Given the description of an element on the screen output the (x, y) to click on. 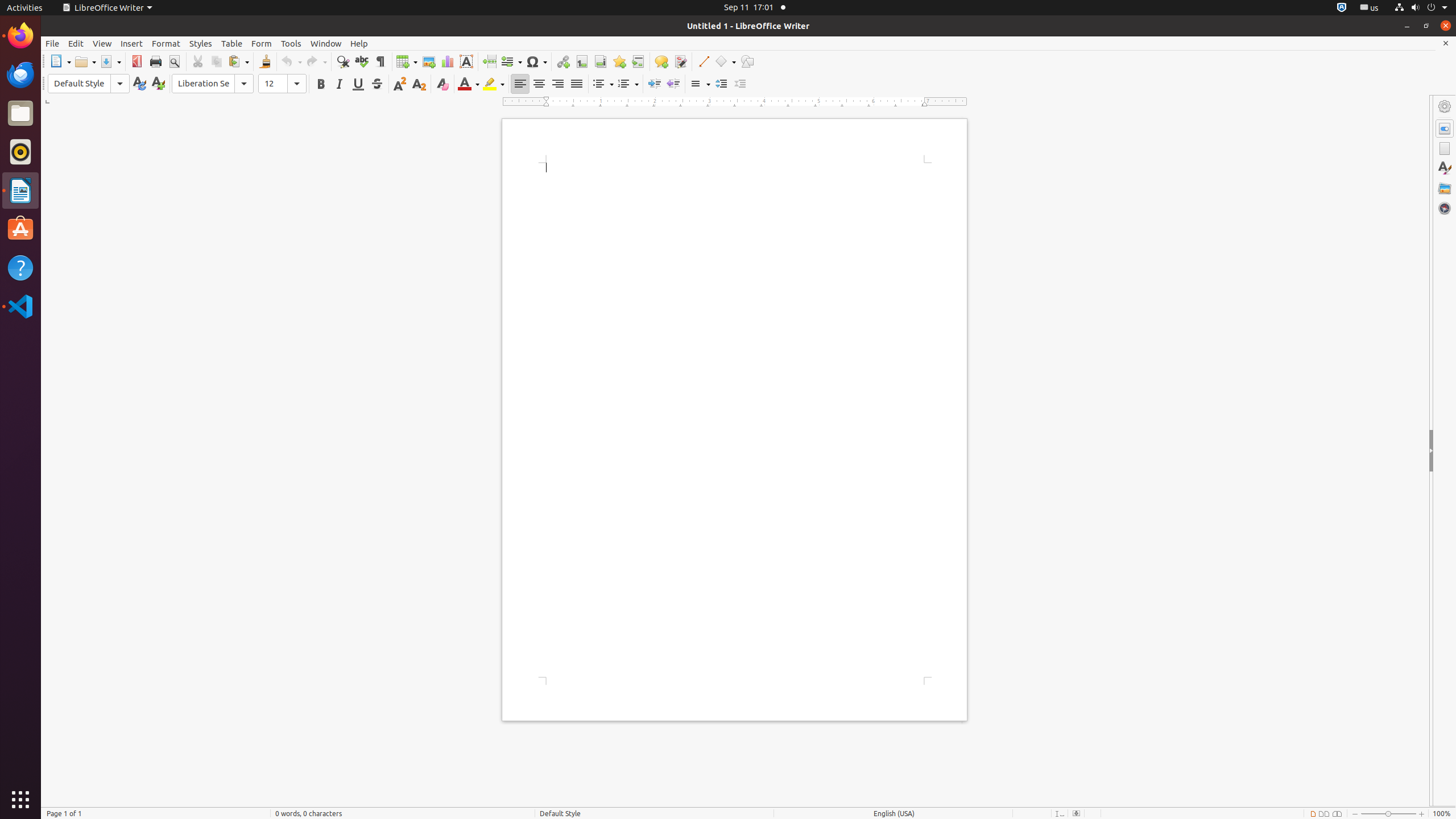
Print Preview Element type: toggle-button (173, 61)
Text Box Element type: push-button (465, 61)
Table Element type: menu (231, 43)
Chart Element type: push-button (446, 61)
